Given the description of an element on the screen output the (x, y) to click on. 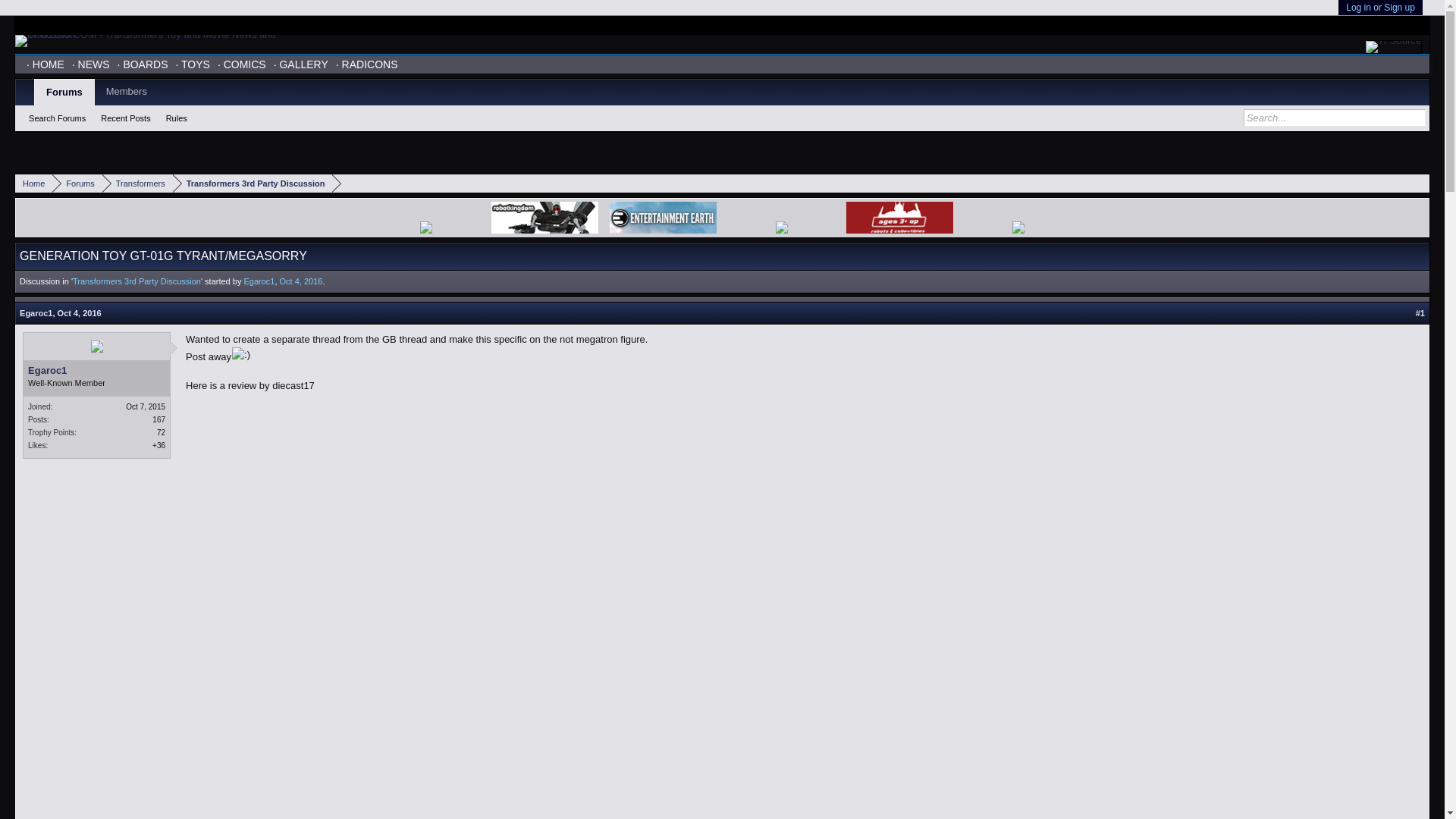
Transformers (137, 183)
Oct 4, 2016 (301, 280)
Transformers 3rd Party Discussion (136, 280)
167 (158, 419)
Oct 4, 2016 (79, 312)
Egaroc1 (36, 312)
Open quick navigation (1420, 183)
Permalink (79, 312)
Forums (76, 183)
Egaroc1 (259, 280)
